Given the description of an element on the screen output the (x, y) to click on. 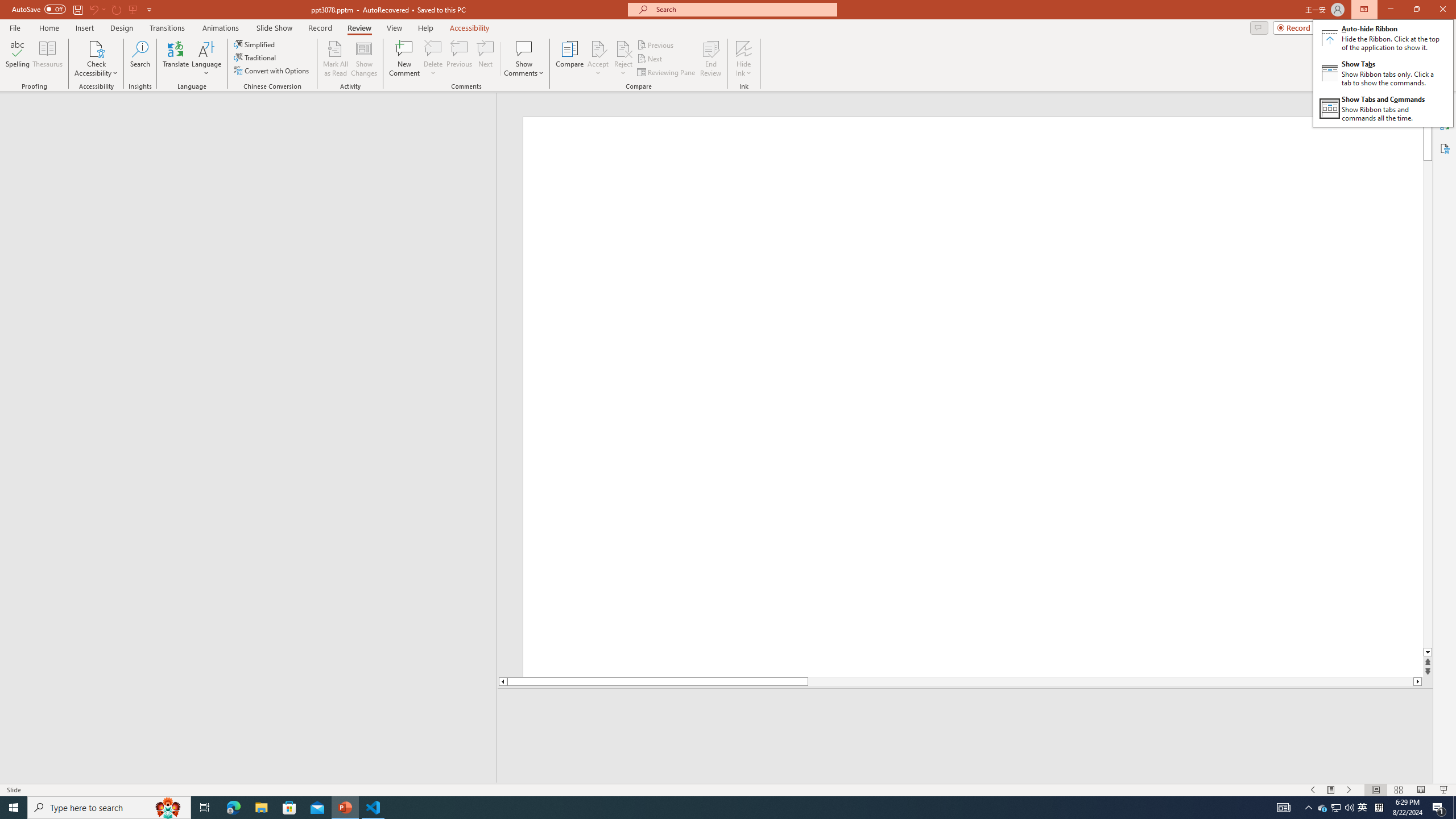
Convert with Options... (272, 69)
Thesaurus... (47, 58)
Traditional (255, 56)
Next (649, 58)
